Given the description of an element on the screen output the (x, y) to click on. 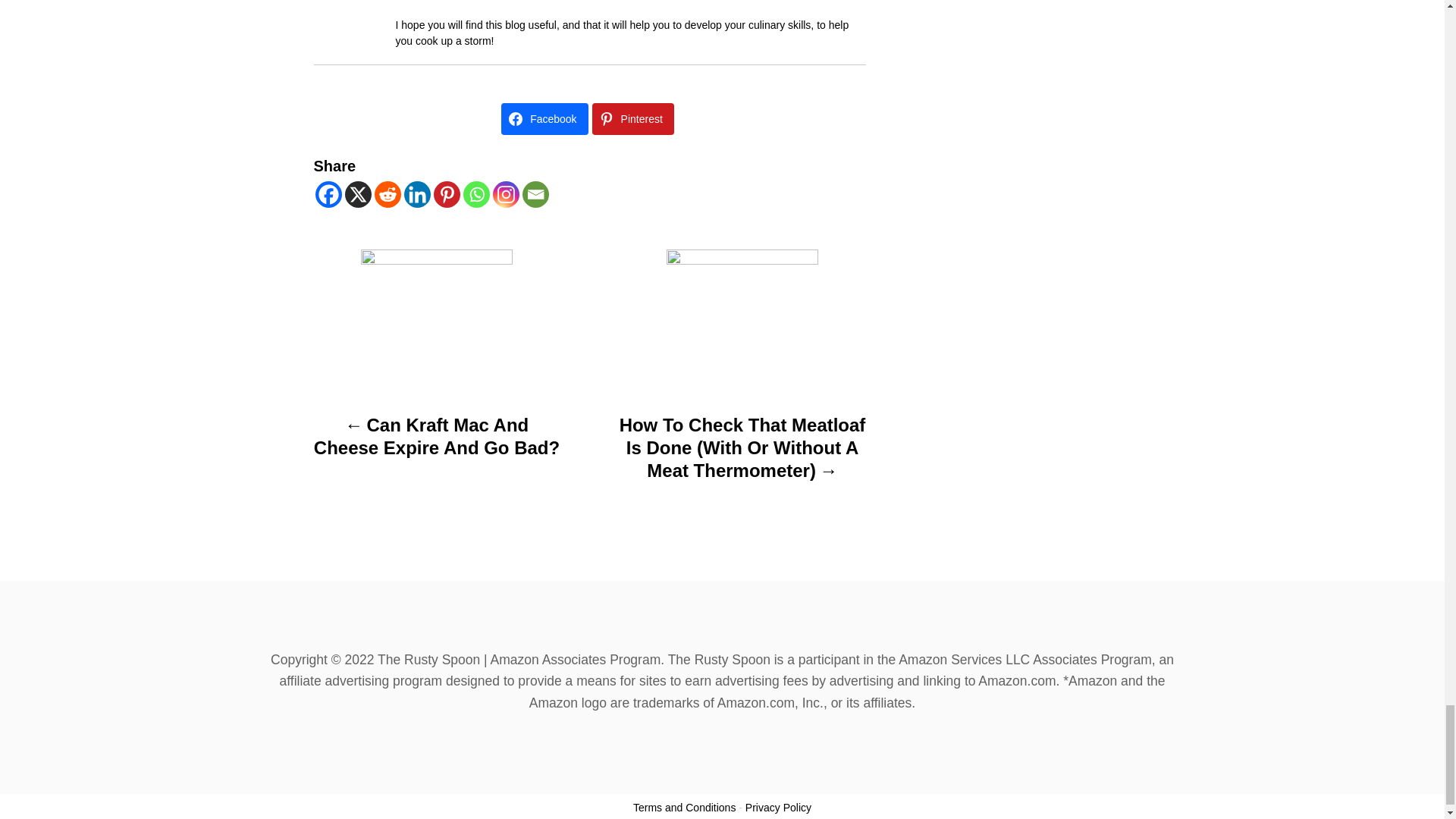
Reddit (387, 194)
Linkedin (416, 194)
Share on Facebook (544, 119)
Instagram (506, 194)
Share on Pinterest (633, 119)
Pinterest (446, 194)
Email (534, 194)
X (357, 194)
Facebook (328, 194)
Whatsapp (476, 194)
